Given the description of an element on the screen output the (x, y) to click on. 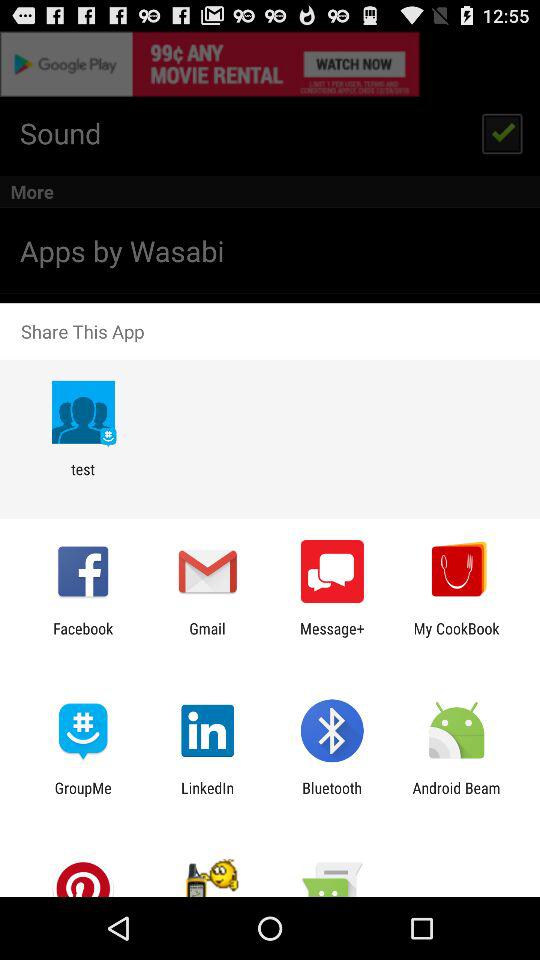
turn on gmail (207, 637)
